Given the description of an element on the screen output the (x, y) to click on. 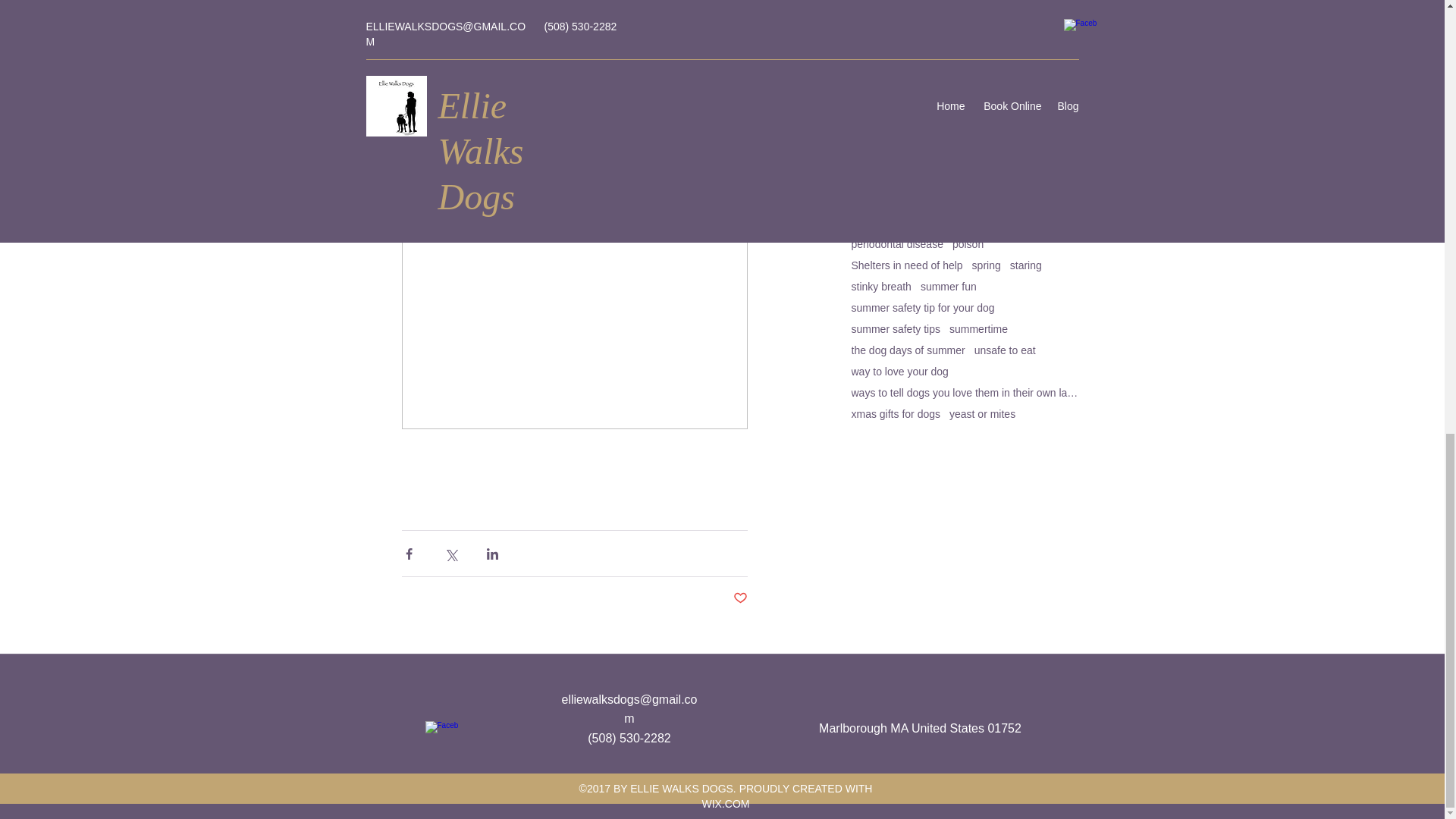
dog love science (890, 95)
periodontal disease (896, 244)
staring (1026, 265)
summer safety tips (894, 328)
ear infection (997, 137)
dog love language (979, 73)
summertime (978, 328)
stinky breath (880, 286)
way to love your dog (898, 371)
Hurricane Harvey (1020, 201)
dog training (1018, 95)
the dog days of summer (906, 349)
xmas gifts for dogs (895, 413)
summer fun (948, 286)
ways to tell dogs you love them in their own langu (964, 392)
